Given the description of an element on the screen output the (x, y) to click on. 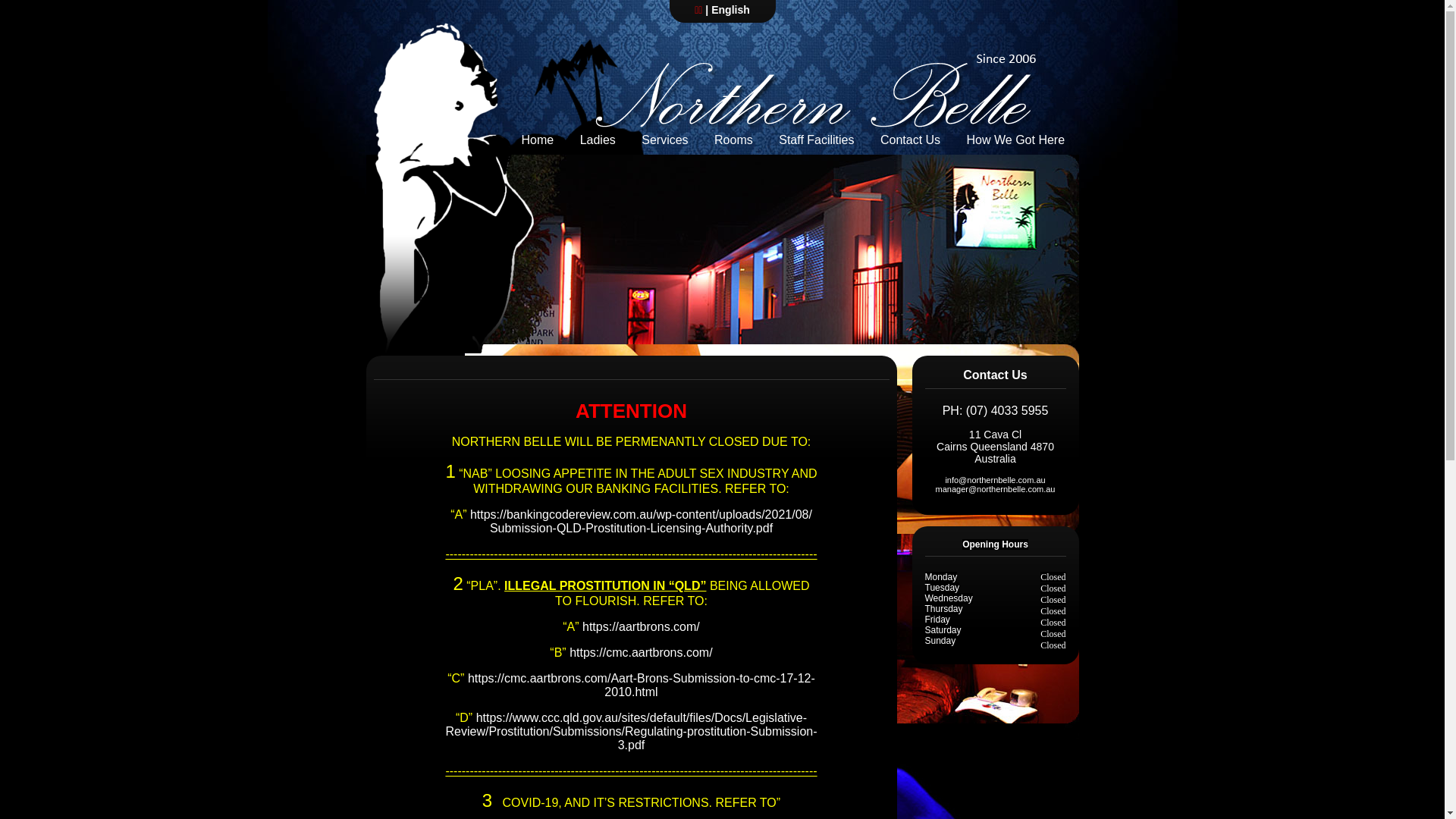
manager@northernbelle.com.au Element type: text (995, 488)
(07) 4033 5955 Element type: text (1007, 410)
Home Element type: text (536, 136)
Contact Us Element type: text (910, 136)
Ladies Element type: text (597, 136)
info@northernbelle.com.au Element type: text (994, 479)
Services Element type: text (664, 136)
English Element type: text (730, 9)
Staff Facilities Element type: text (816, 136)
https://aartbrons.com/ Element type: text (640, 626)
How We Got Here Element type: text (1015, 136)
https://cmc.aartbrons.com/ Element type: text (640, 652)
Rooms Element type: text (733, 136)
